Given the description of an element on the screen output the (x, y) to click on. 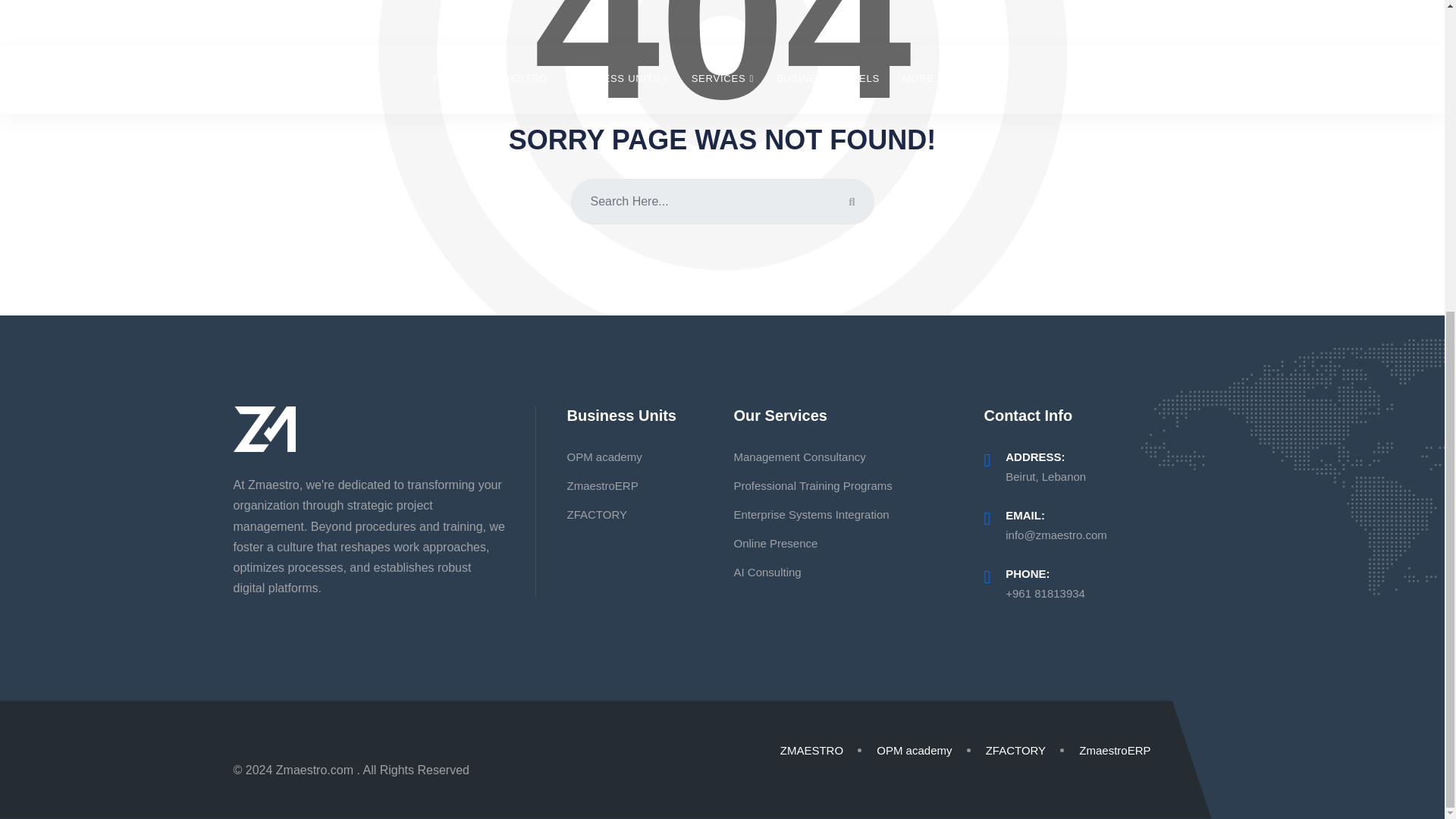
Professional Training Programs (812, 485)
ZmaestroERP (601, 485)
Management Consultancy (798, 456)
AI Consulting (766, 571)
ZmaestroERP (1114, 749)
OPM academy (914, 749)
ZMAESTRO (811, 749)
OPM academy (604, 456)
ZFACTORY (596, 513)
Online Presence (774, 543)
ZFACTORY (1015, 749)
Enterprise Systems Integration (810, 513)
